Given the description of an element on the screen output the (x, y) to click on. 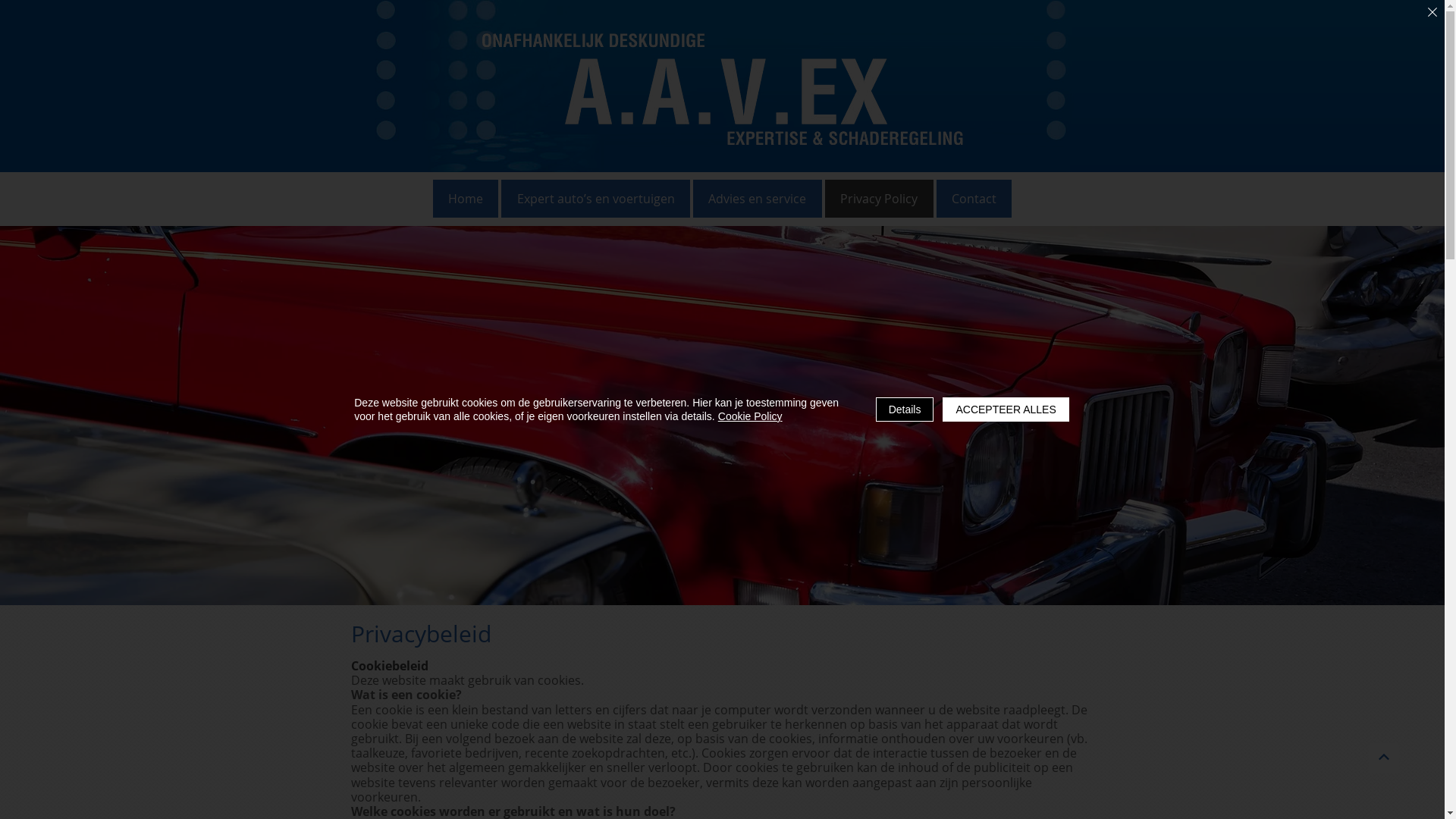
Privacy Policy Element type: text (879, 198)
Details Element type: text (904, 409)
Rudi Philippaerts Element type: hover (722, 88)
Contact Element type: text (974, 198)
Cookie Policy Element type: text (750, 416)
ACCEPTEER ALLES Element type: text (1005, 409)
Advies en service Element type: text (757, 198)
Home Element type: text (465, 198)
